Given the description of an element on the screen output the (x, y) to click on. 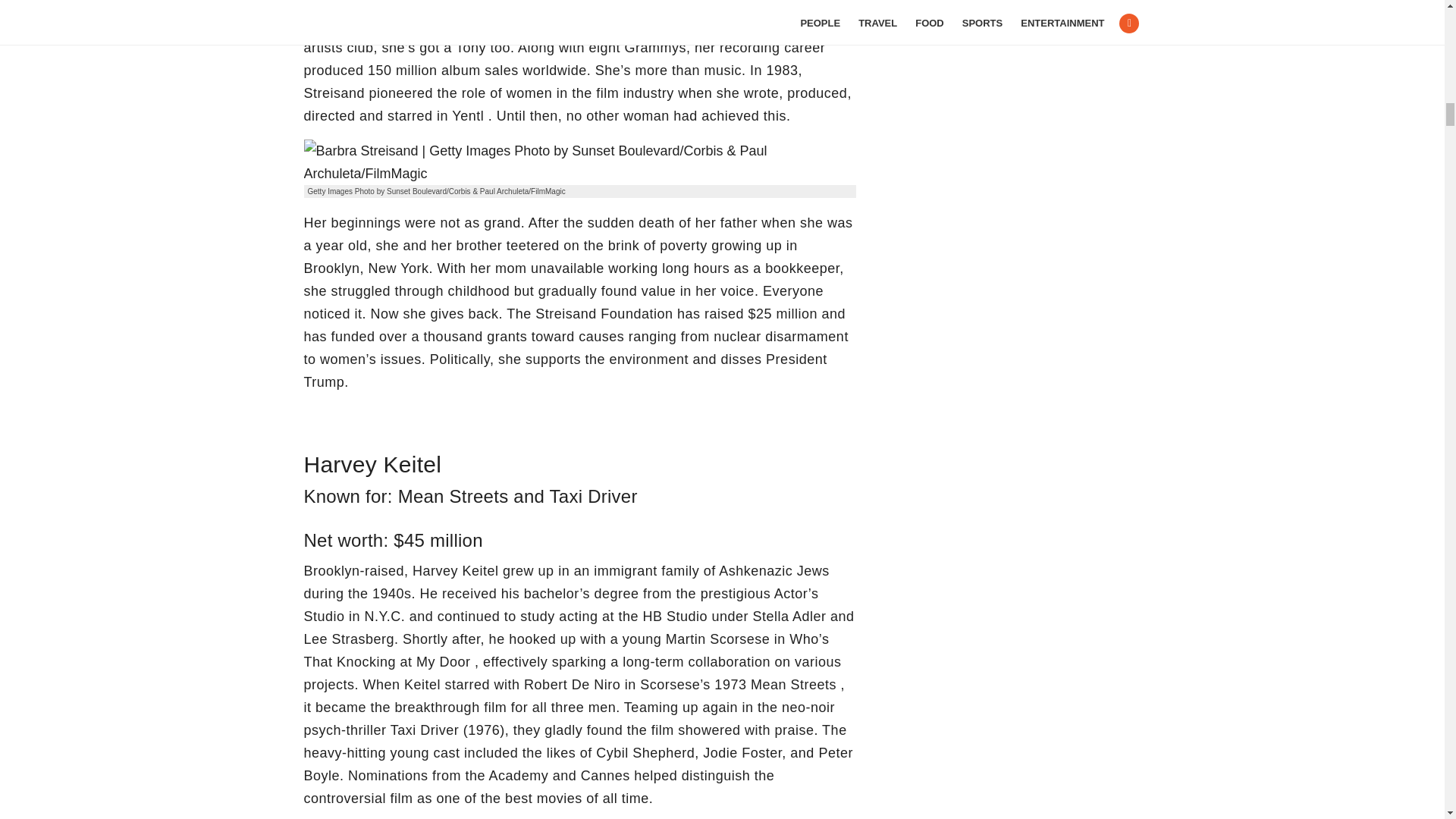
Barbra Streisand (579, 162)
